Given the description of an element on the screen output the (x, y) to click on. 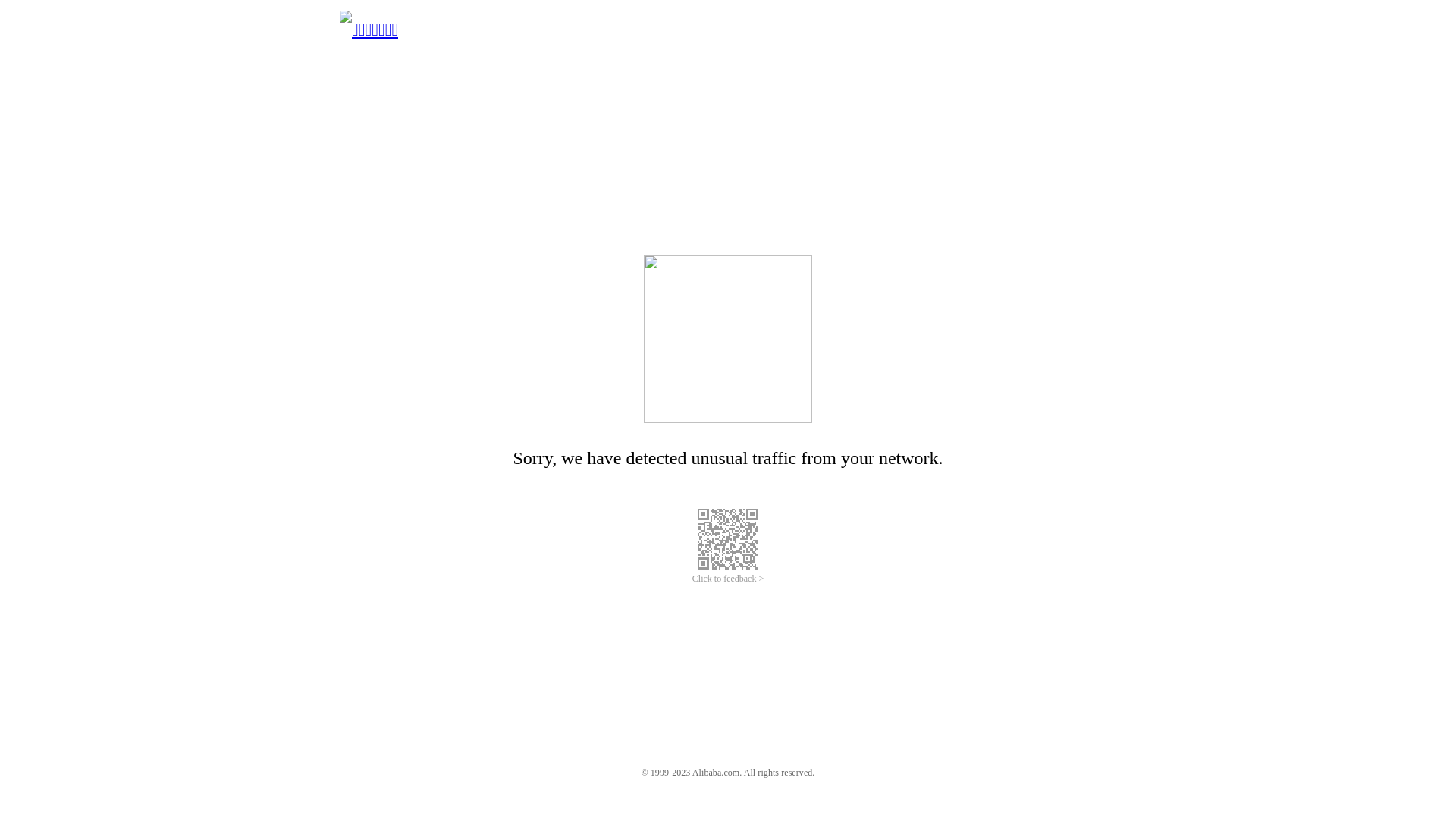
Click to feedback > Element type: text (727, 578)
